Given the description of an element on the screen output the (x, y) to click on. 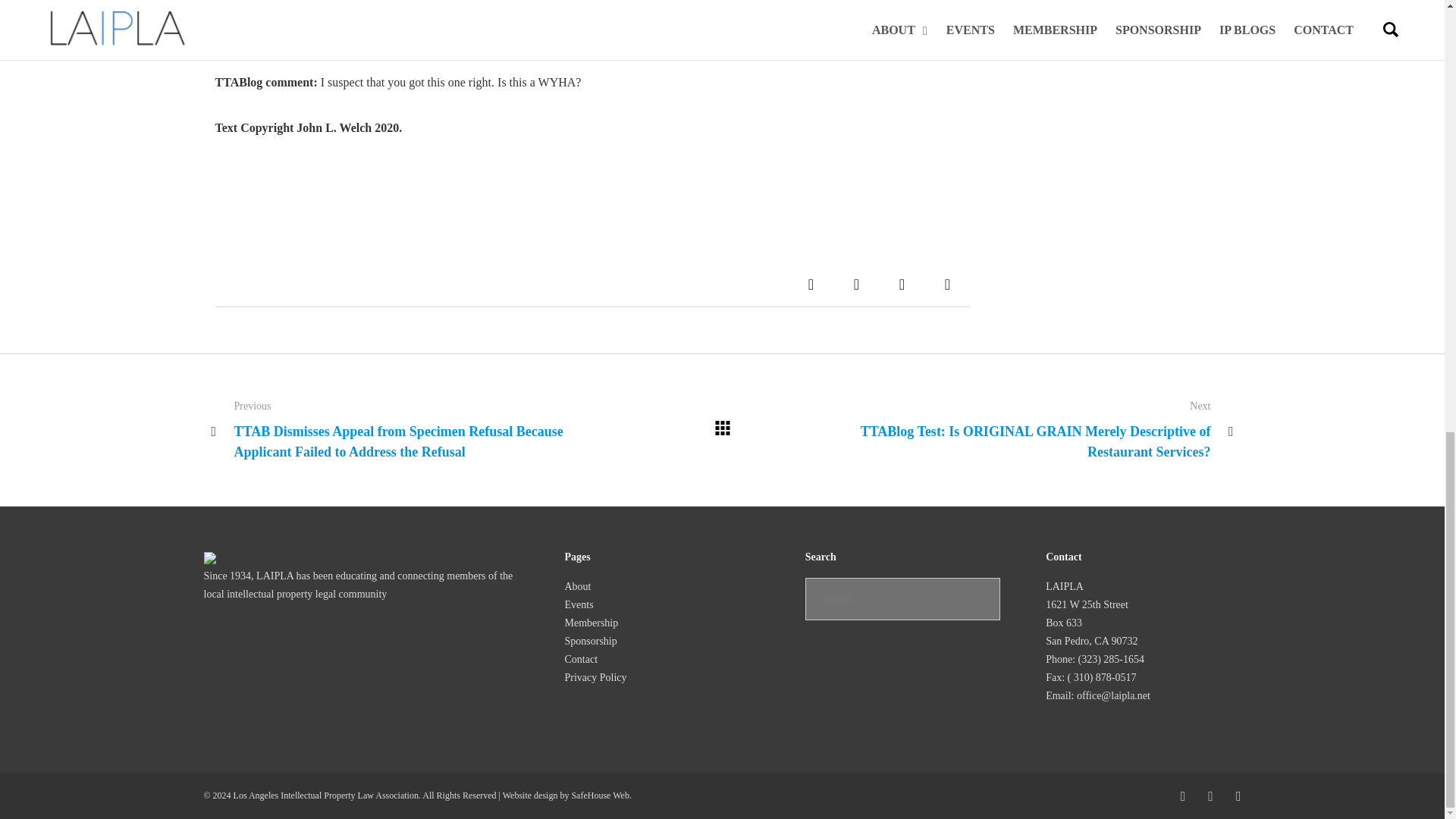
Share this. (901, 284)
Share this. (811, 284)
Website design for law firms and attorney associations (599, 795)
Share this. (947, 284)
Tweet this. (856, 284)
